Given the description of an element on the screen output the (x, y) to click on. 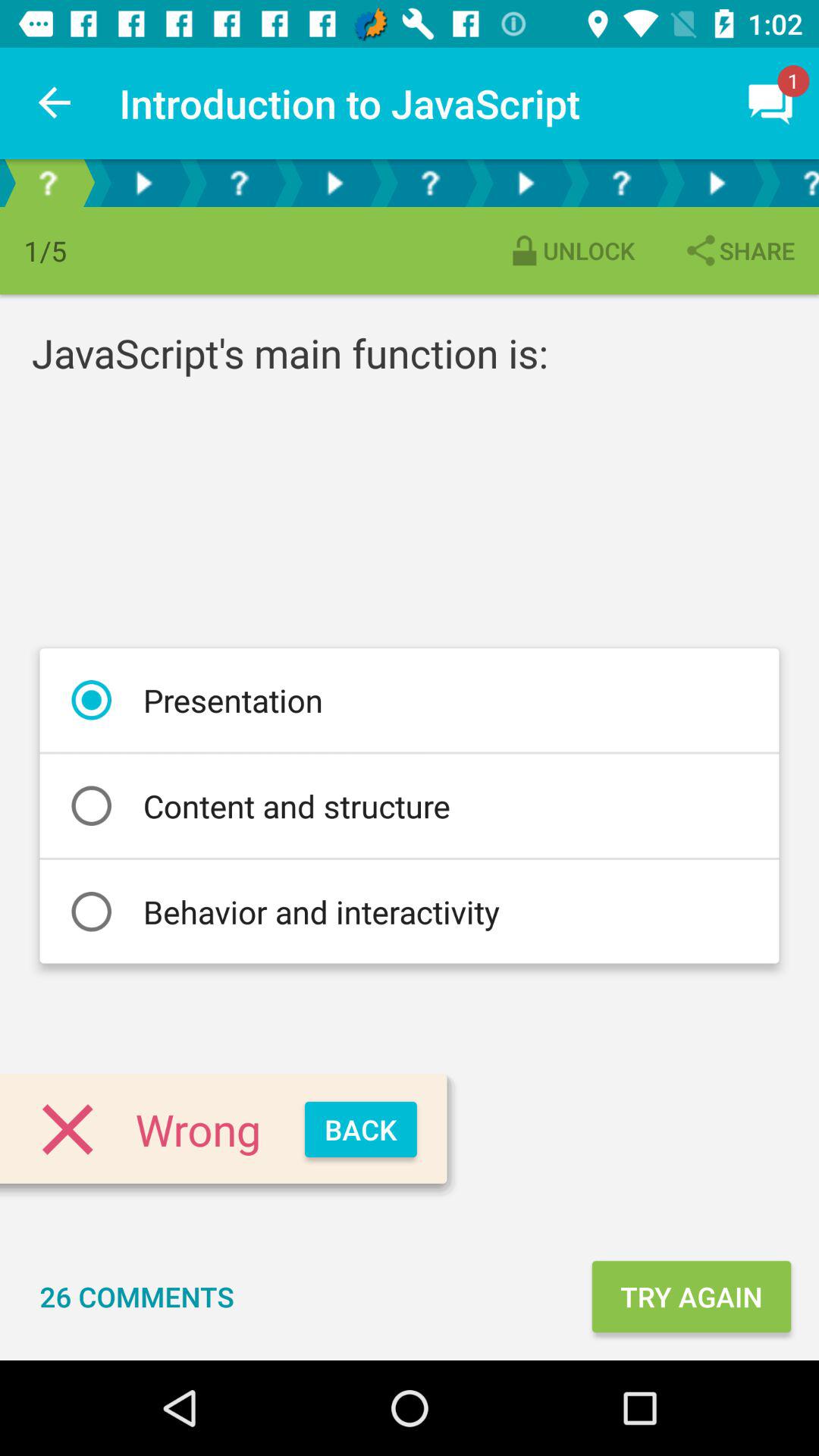
turn on the try again icon (691, 1296)
